Given the description of an element on the screen output the (x, y) to click on. 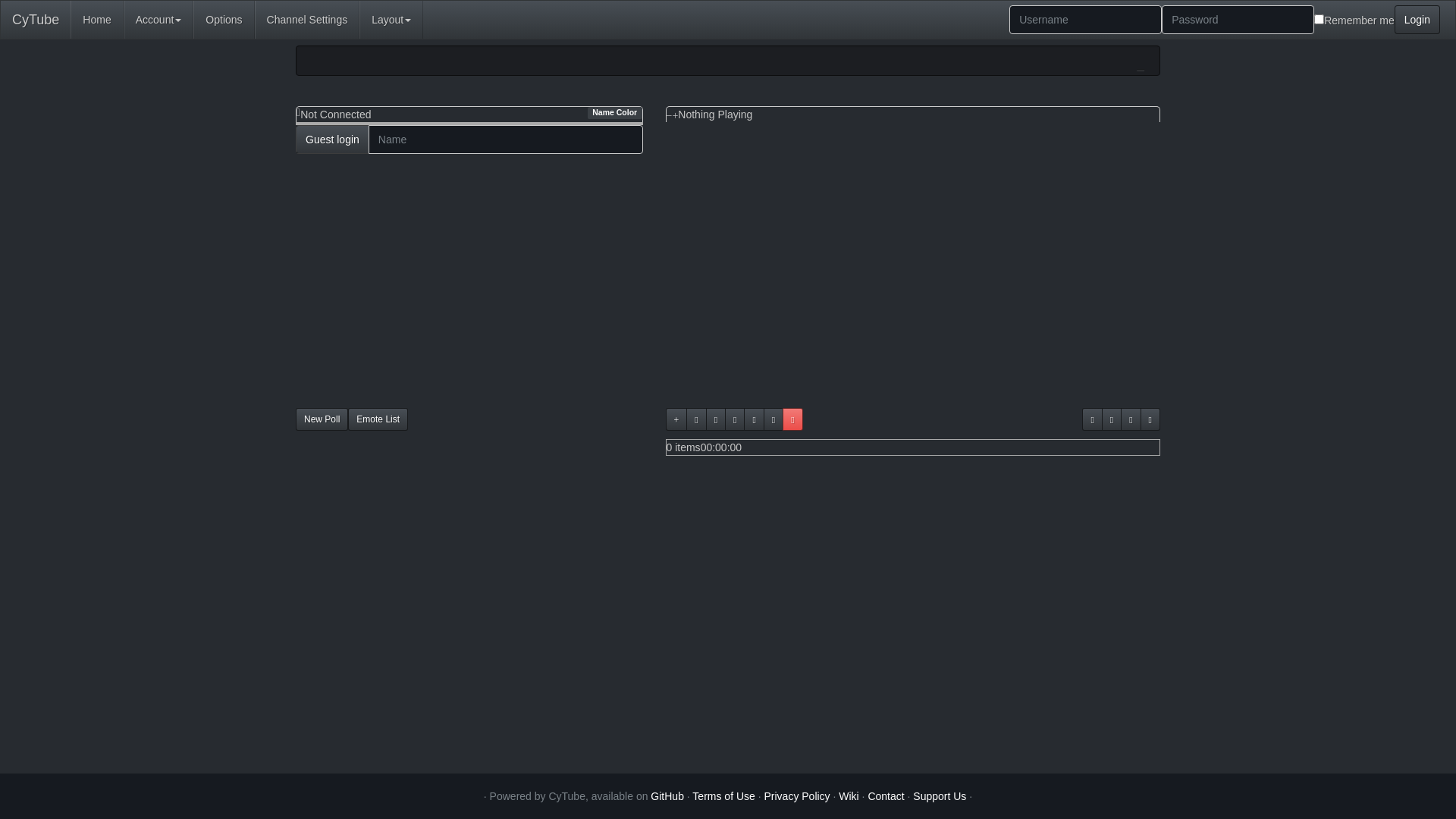
CyTube Element type: text (35, 19)
Wiki Element type: text (848, 796)
Playlist locked Element type: hover (792, 418)
Emote List Element type: text (377, 418)
Reload the video player Element type: hover (1091, 418)
Layout Element type: text (391, 19)
New Poll Element type: text (321, 418)
Account Element type: text (158, 19)
Terms of Use Element type: text (723, 796)
Make the video smaller Element type: hover (668, 115)
Voteskip Element type: hover (1150, 418)
Search for a video Element type: hover (696, 418)
Support Us Element type: text (939, 796)
Shuffle the playlist Element type: hover (773, 418)
GitHub Element type: text (667, 796)
Manage playlists Element type: hover (734, 418)
Make the video player fullscreen Element type: hover (1111, 418)
Privacy Policy Element type: text (796, 796)
Clear the playlist Element type: hover (753, 418)
Add video from URL Element type: hover (676, 418)
Make the video larger Element type: hover (674, 115)
Show/Hide Userlist Element type: hover (298, 112)
Embed a custom frame Element type: hover (715, 418)
Contact Element type: text (885, 796)
Options Element type: text (223, 19)
Login Element type: text (1417, 19)
Retrieve playlist links Element type: hover (1130, 418)
Channel Settings Element type: text (307, 19)
Home Element type: text (96, 19)
